Given the description of an element on the screen output the (x, y) to click on. 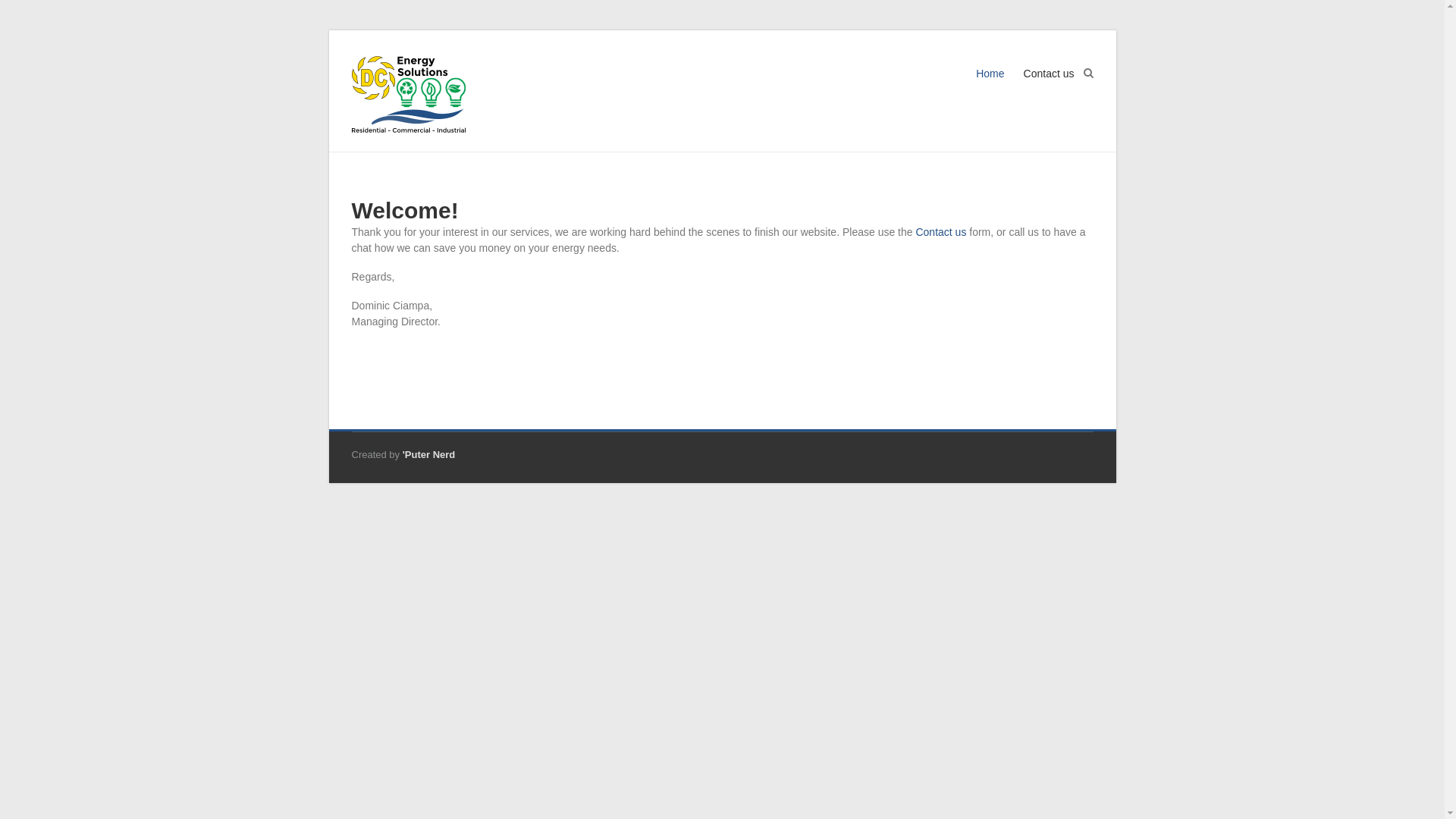
'Puter Nerd Element type: text (428, 454)
Contact us Element type: text (940, 231)
Home Element type: text (989, 87)
Contact us Element type: text (1048, 87)
DC Energy Solutions Element type: text (456, 63)
